Given the description of an element on the screen output the (x, y) to click on. 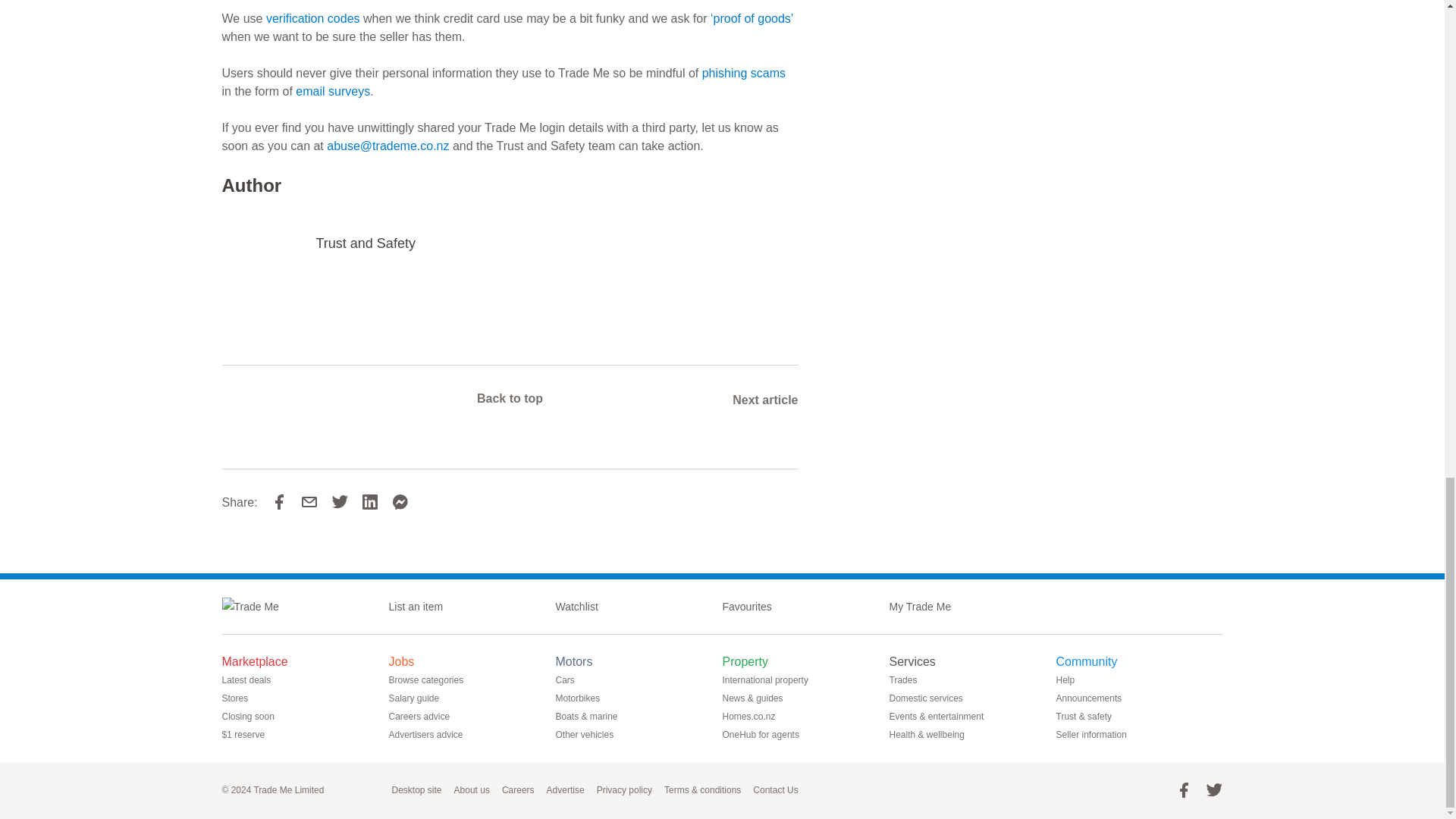
Share via email (308, 502)
Share via email (314, 502)
Marketplace (260, 661)
verification codes (312, 18)
My Trade Me (925, 606)
Share on LinkedIn (376, 502)
Back to top (510, 398)
Follow Trade Me on Facebook (1182, 790)
List an item (421, 606)
Share on Facebook (278, 502)
